Given the description of an element on the screen output the (x, y) to click on. 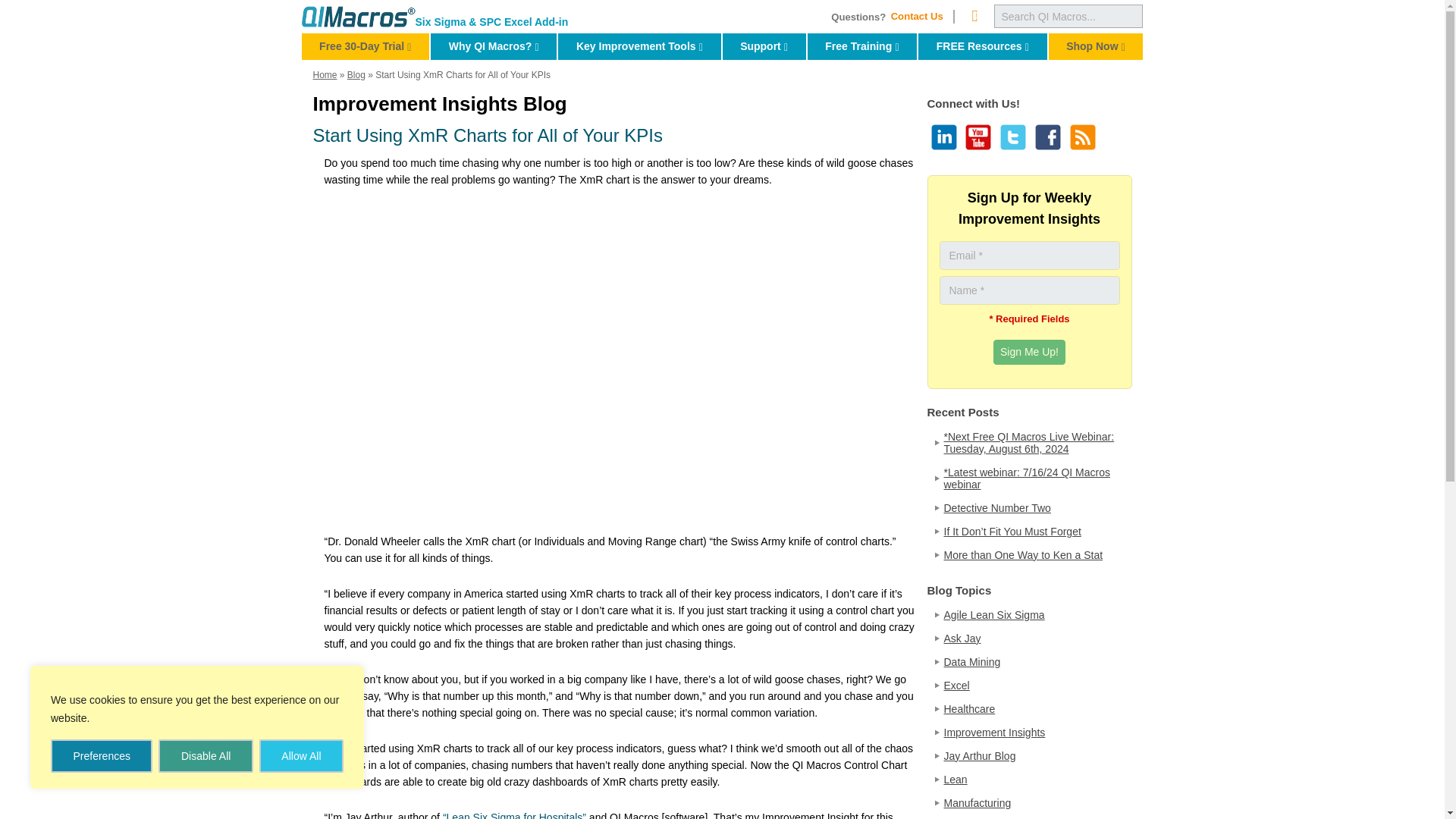
Connect with us on YouTube (976, 136)
Cart (974, 16)
Home (357, 16)
Allow All (301, 756)
Key Improvement Tools (638, 46)
Disable All (204, 756)
Contact Us (921, 16)
Free 30-Day Trial (365, 46)
Connect with us on Twitter (1011, 136)
Why QI Macros? (493, 46)
Connect with us on Facebook (974, 16)
Sign Me Up! (1046, 136)
Connect with us on LinkedIn (1028, 351)
Preferences (942, 136)
